Given the description of an element on the screen output the (x, y) to click on. 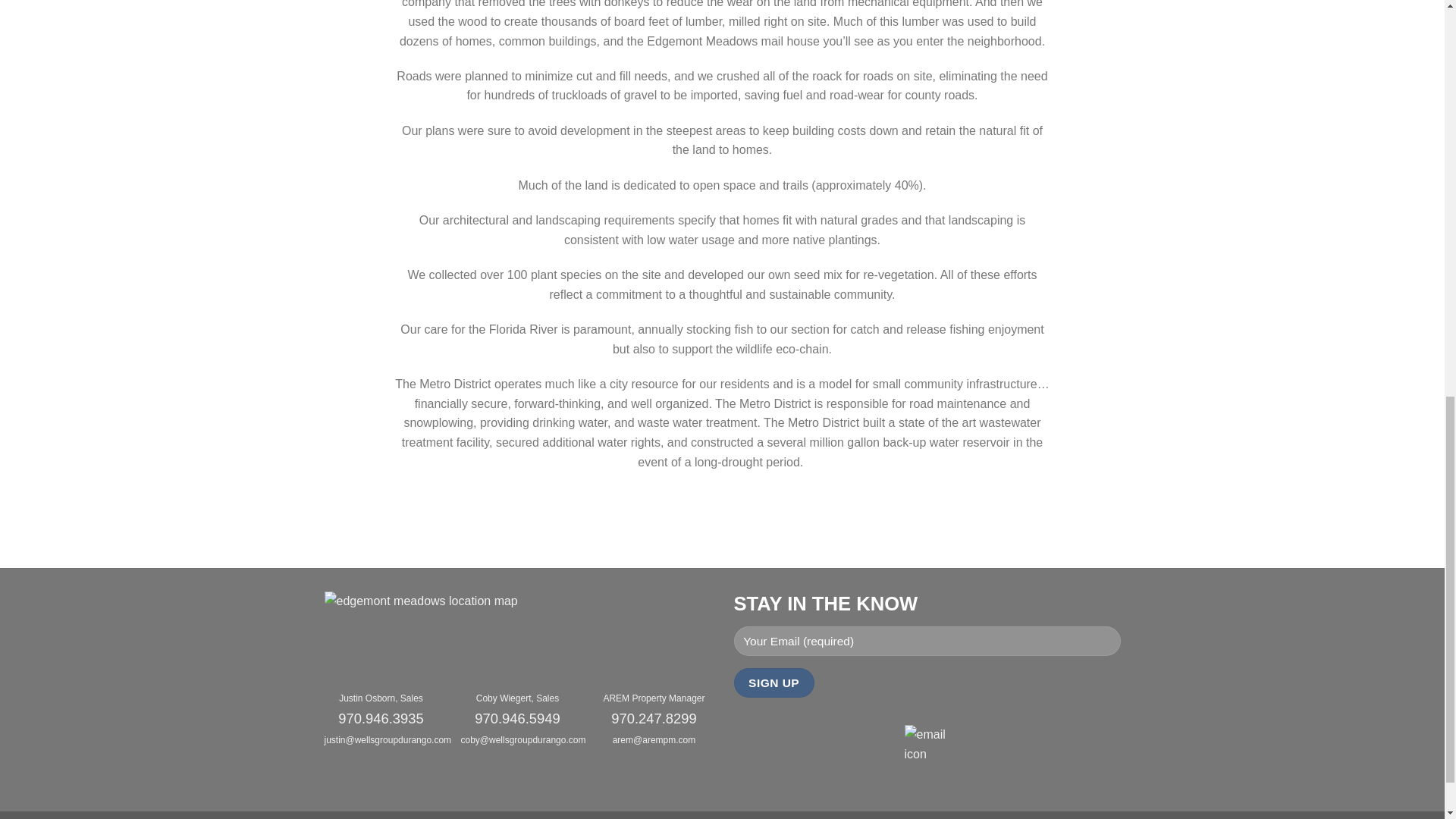
Sign Up (773, 682)
Sign Up (773, 682)
